Given the description of an element on the screen output the (x, y) to click on. 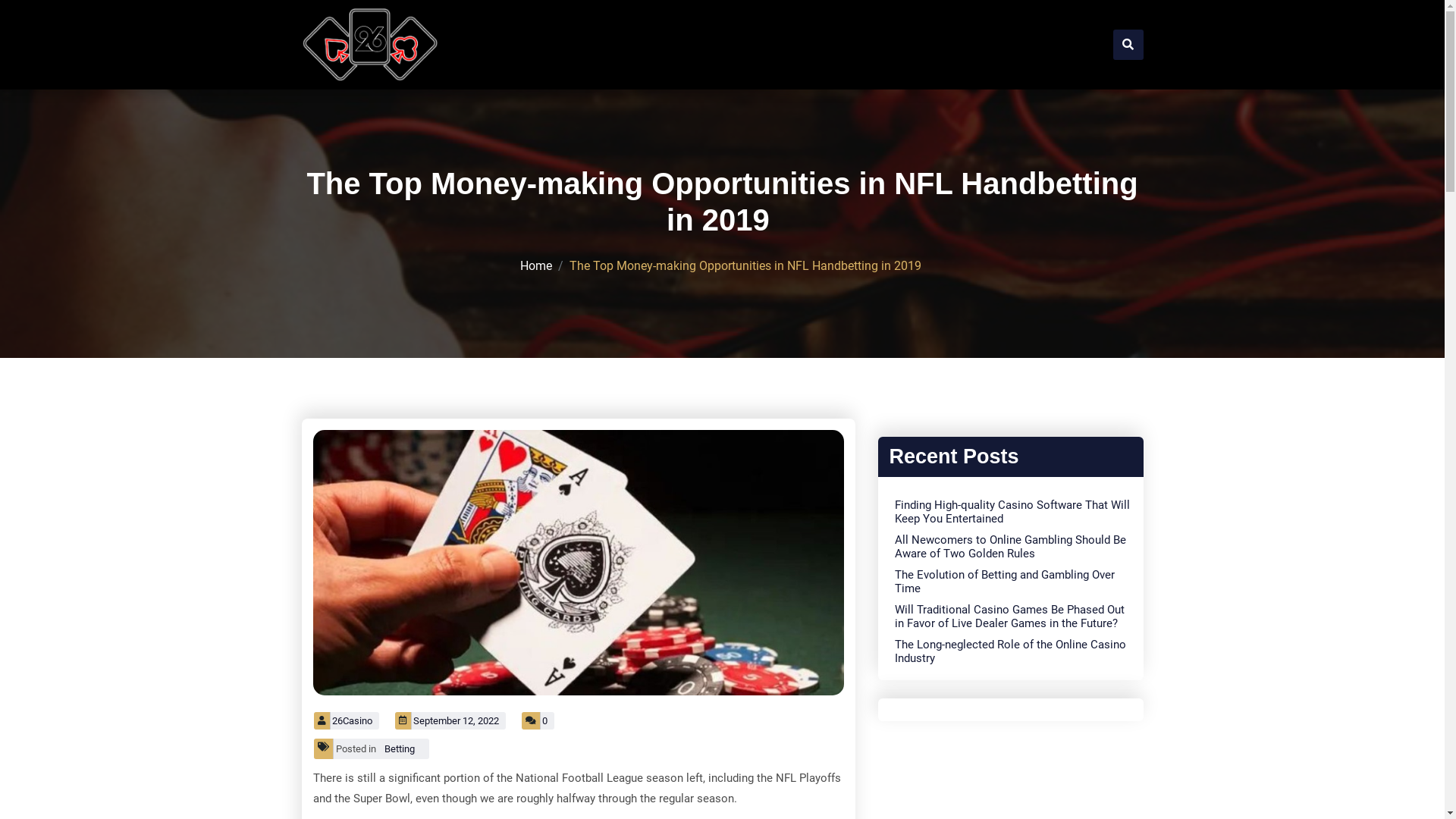
Betting Element type: text (401, 748)
September 12, 2022 Element type: text (449, 720)
0 Element type: text (537, 720)
The Long-neglected Role of the Online Casino Industry Element type: text (1013, 651)
26 Casino Element type: text (351, 94)
Home Element type: text (536, 265)
26Casino Element type: text (346, 720)
The Evolution of Betting and Gambling Over Time Element type: text (1013, 581)
